Given the description of an element on the screen output the (x, y) to click on. 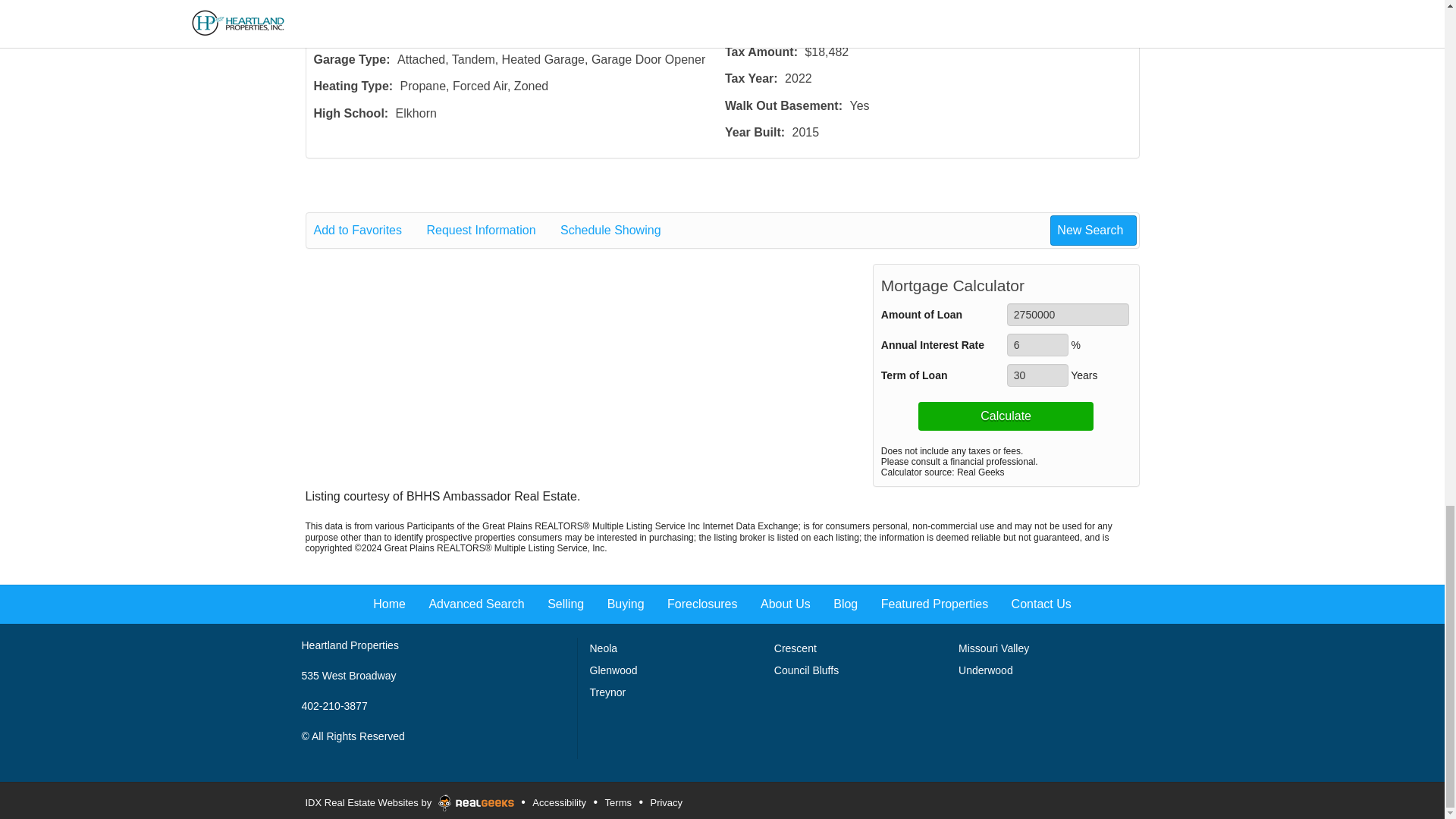
30 (1037, 374)
2750000 (1068, 314)
6 (1037, 344)
